Given the description of an element on the screen output the (x, y) to click on. 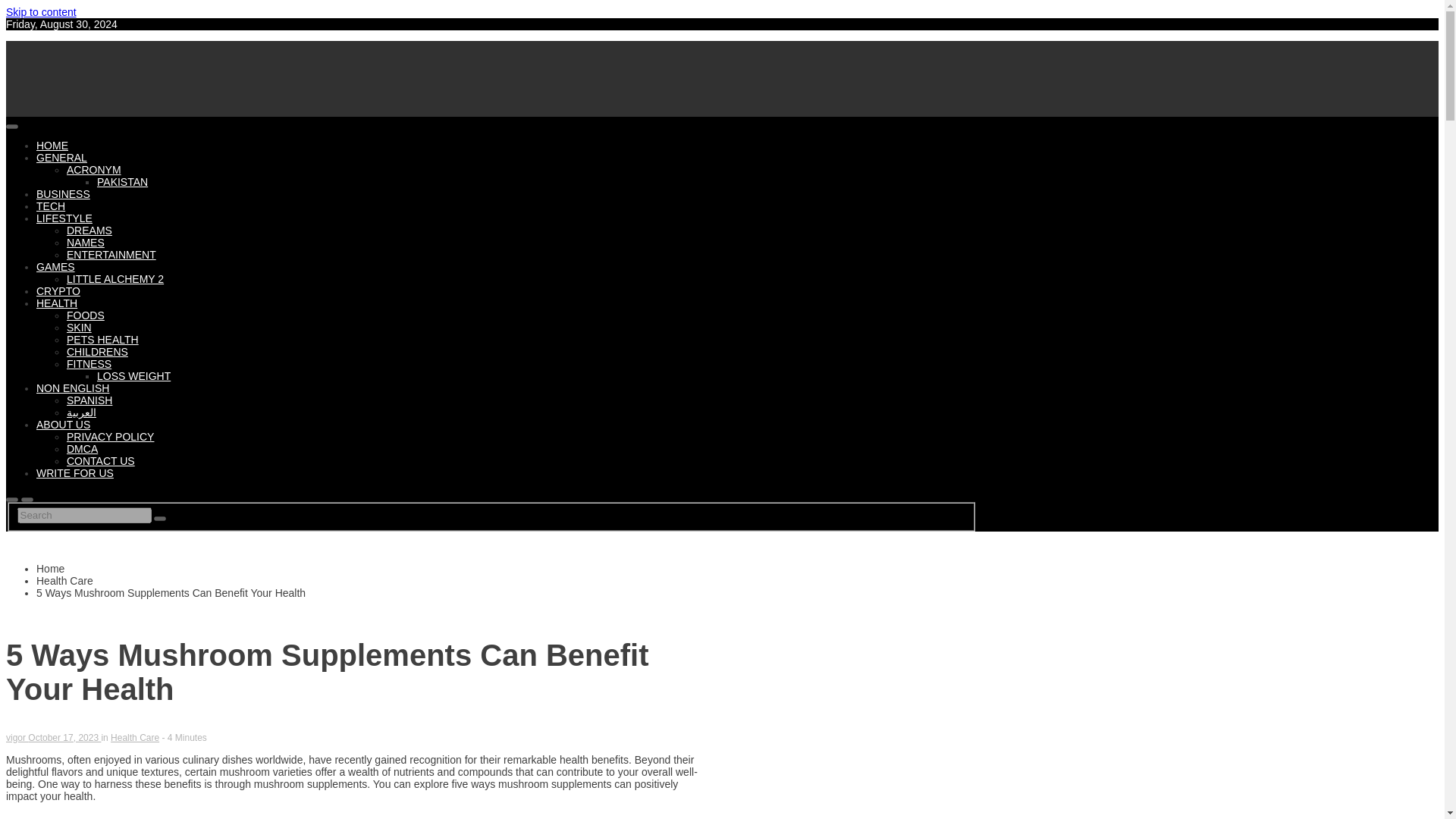
FOODS (85, 315)
LIFESTYLE (64, 218)
GAMES (55, 266)
October 17, 2023 (63, 737)
Health Care (134, 737)
SPANISH (89, 399)
NON ENGLISH (72, 387)
HOME (52, 145)
DMCA (81, 449)
HEALTH (56, 303)
